Given the description of an element on the screen output the (x, y) to click on. 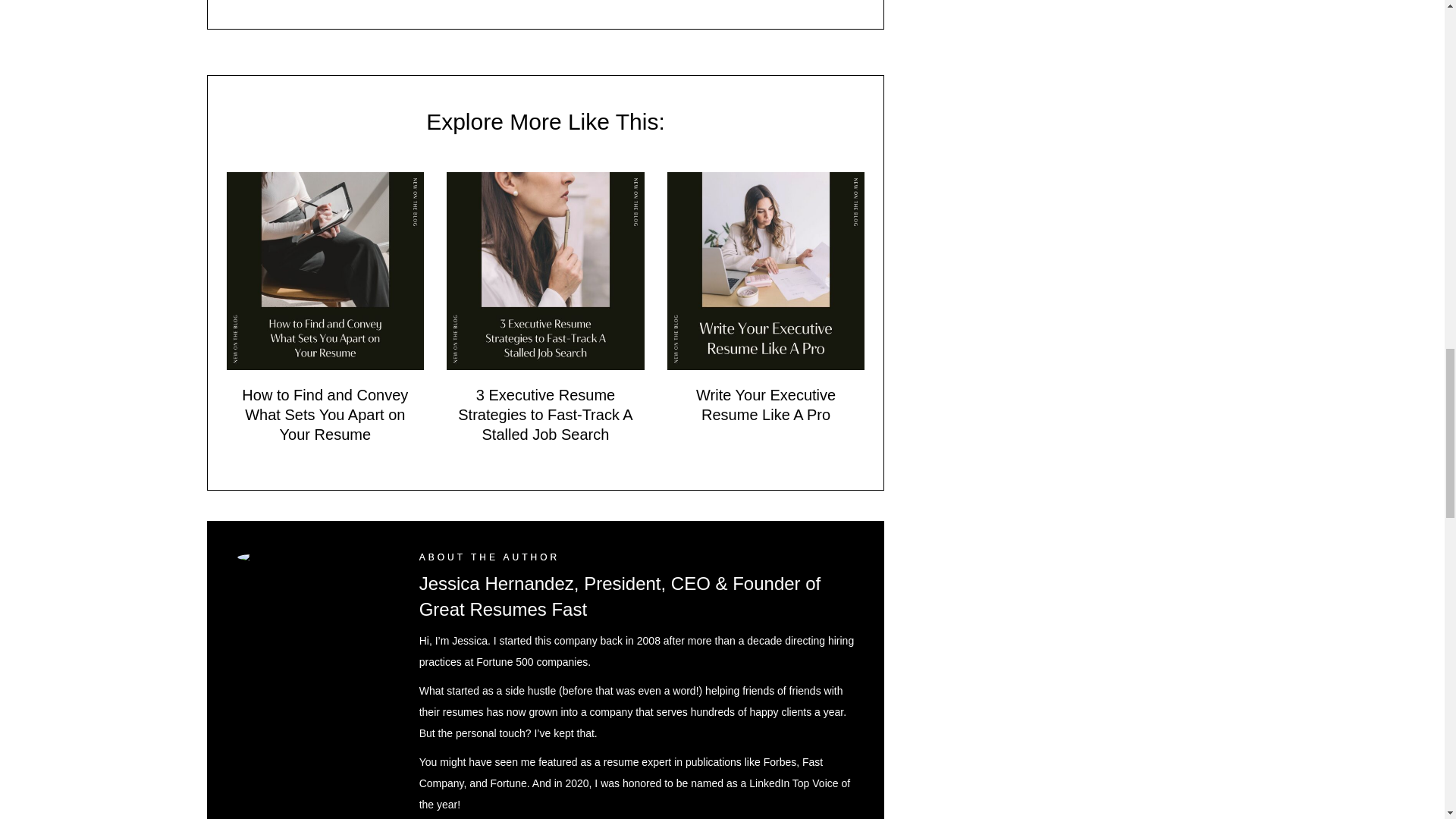
About Great Resumes Fast Product Templates MRP-3882 (311, 557)
Write Your Executive Resume Like A Pro (765, 269)
Write Your Executive Resume Like A Pro (765, 404)
How to Find and Convey What Sets You Apart on Your Resume (324, 414)
How to Find and Convey What Sets You Apart on Your Resume (324, 269)
